Given the description of an element on the screen output the (x, y) to click on. 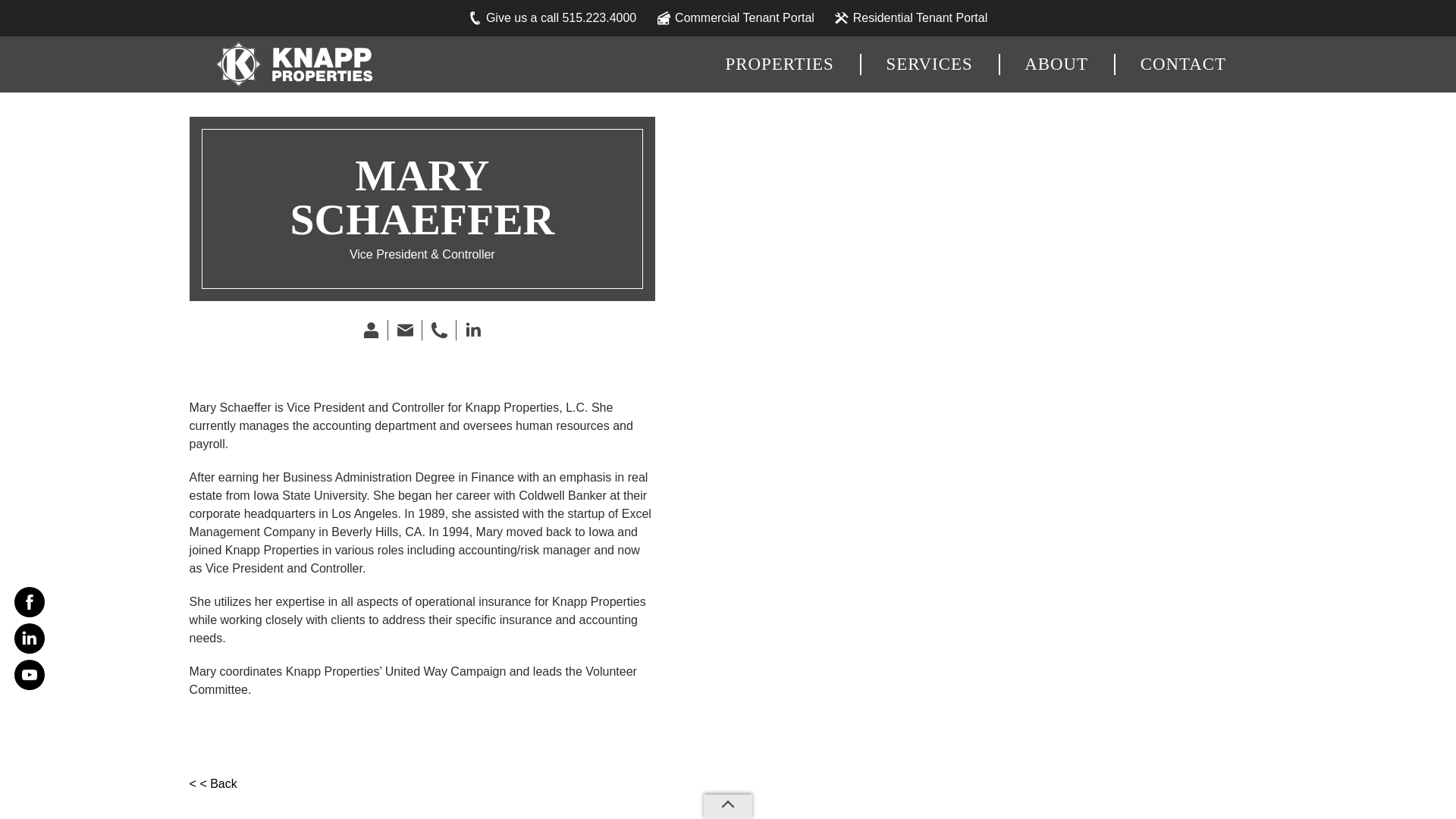
Residential Tenant Portal (911, 18)
Knapp Properties. Link to homepage (290, 63)
Give us a call 515.223.4000 (552, 18)
Commercial Tenant Portal (735, 18)
